Given the description of an element on the screen output the (x, y) to click on. 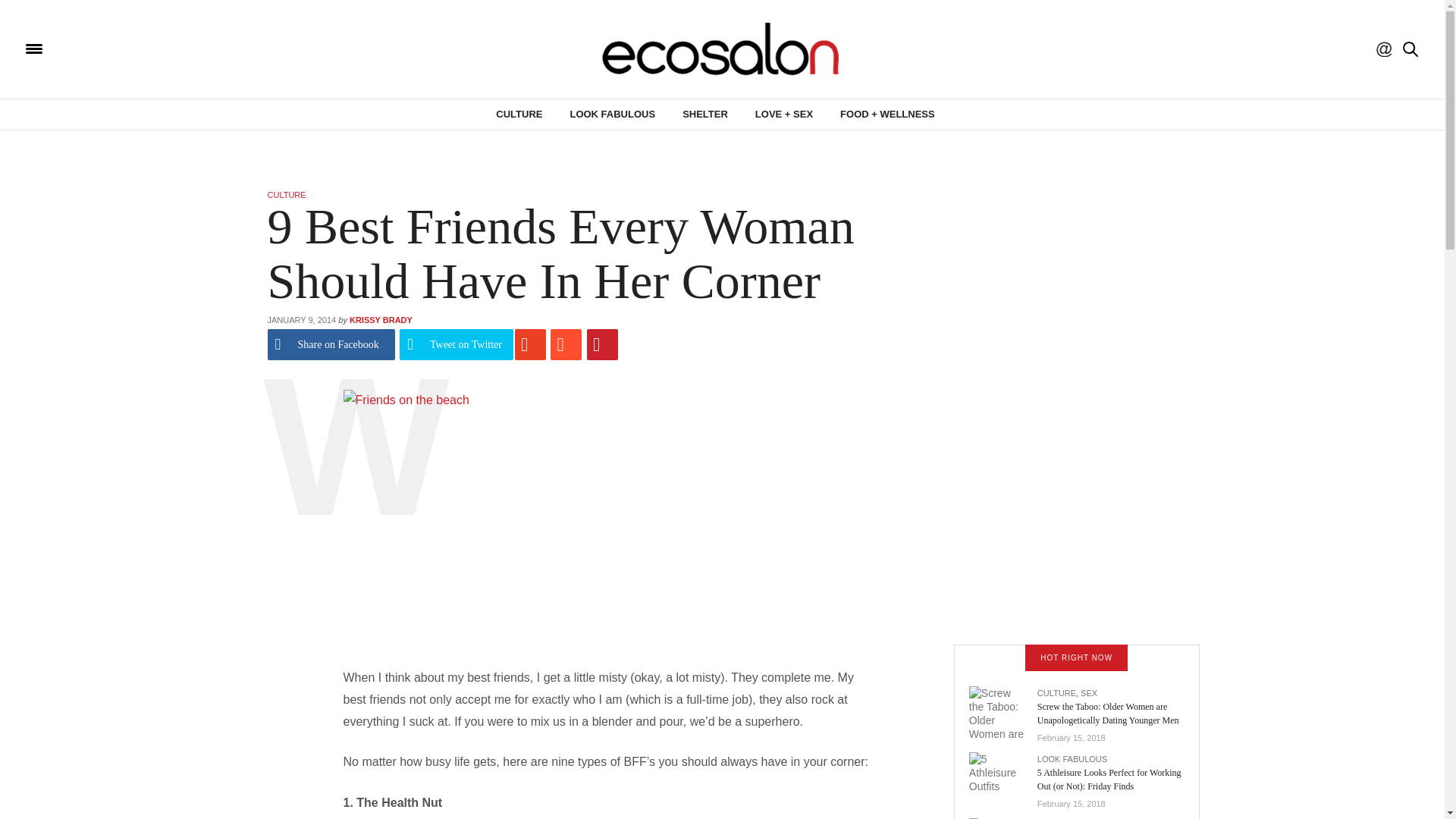
EcoSalon (722, 49)
LOOK FABULOUS (612, 114)
CULTURE (518, 114)
SHELTER (705, 114)
EcoSalon (125, 47)
